Given the description of an element on the screen output the (x, y) to click on. 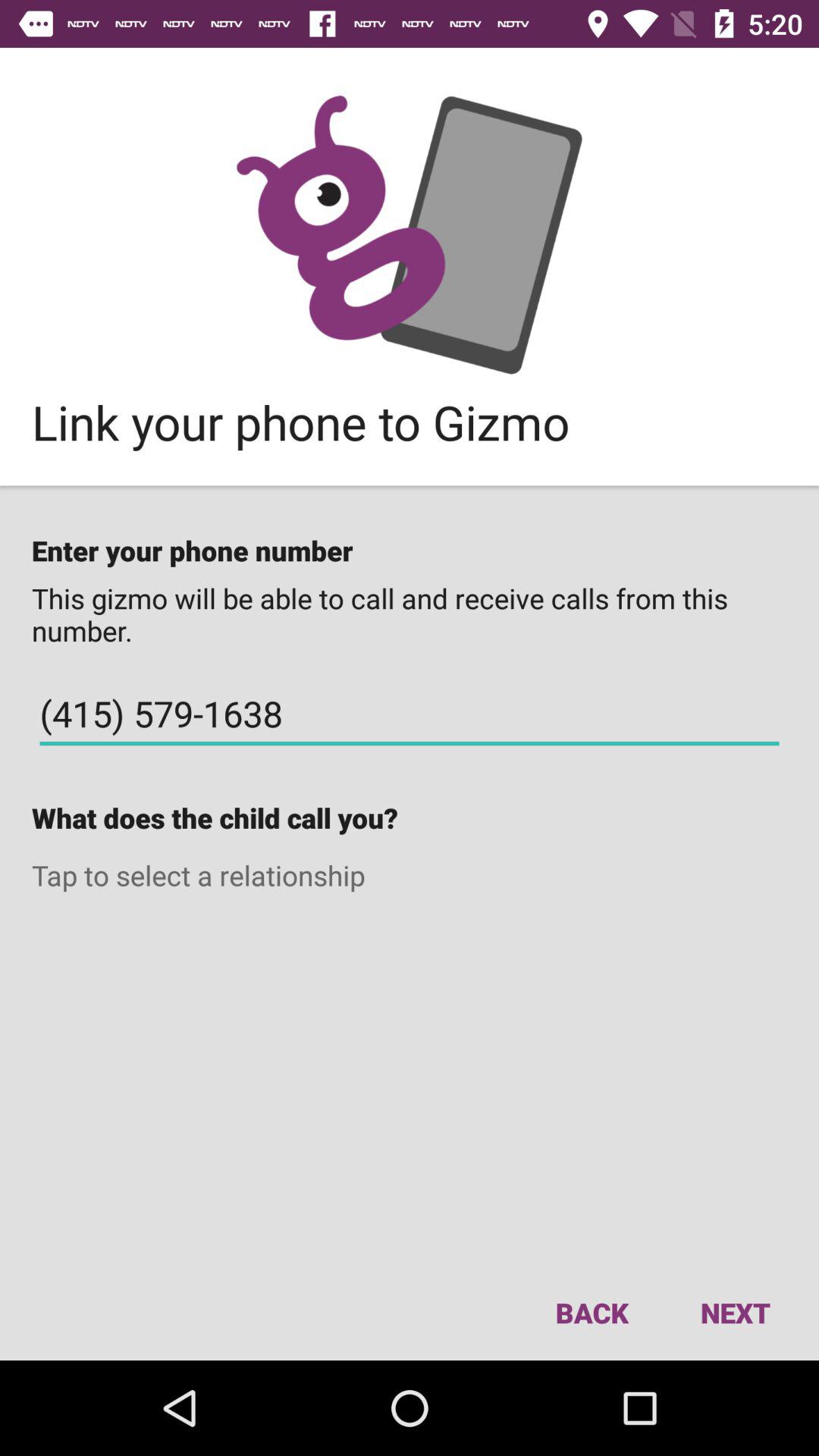
select the icon below the tap to select (735, 1312)
